Given the description of an element on the screen output the (x, y) to click on. 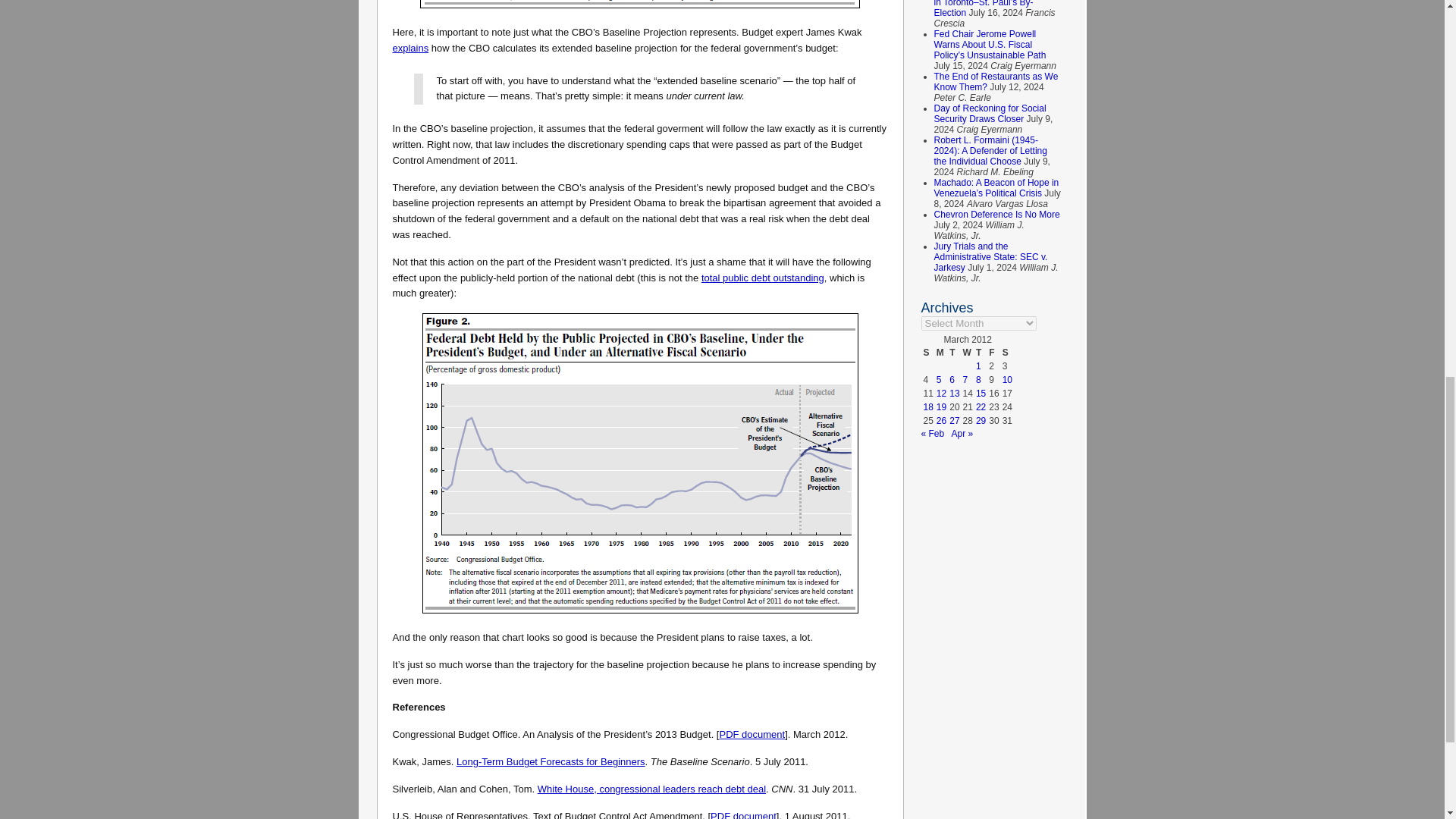
Friday (993, 352)
PDF document (751, 734)
Monday (941, 352)
Tuesday (954, 352)
White House, congressional leaders reach debt deal (651, 788)
total public debt outstanding (762, 277)
cbo-analysis-presidents-fy2013-budget-figure-1 (640, 4)
explains (411, 48)
cbo-analysis-effect-on-national-debt (640, 462)
Thursday (981, 352)
Saturday (1007, 352)
Sunday (927, 352)
Wednesday (968, 352)
Long-Term Budget Forecasts for Beginners (551, 761)
PDF document (743, 814)
